Given the description of an element on the screen output the (x, y) to click on. 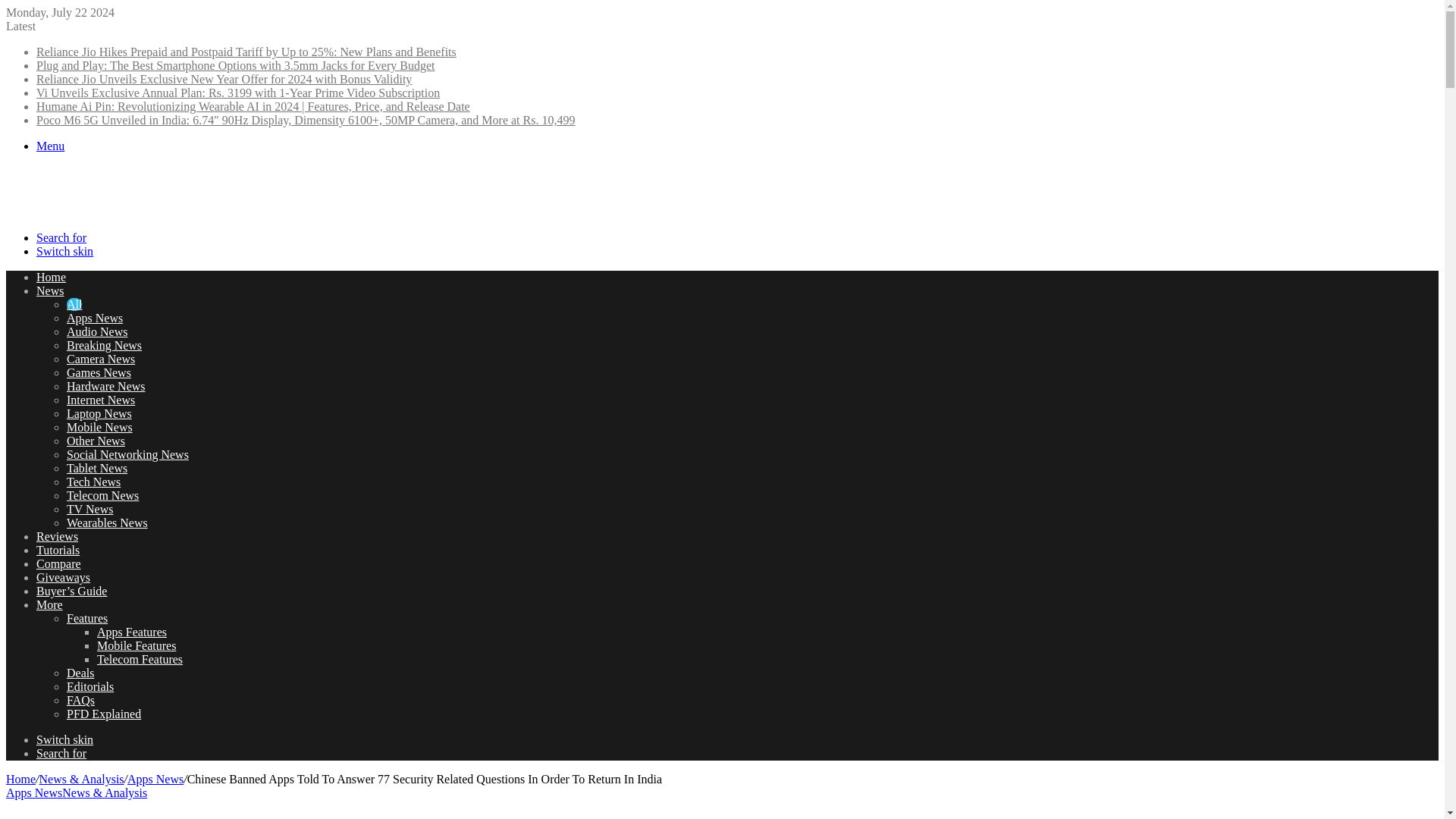
Deals (80, 672)
Reviews (57, 535)
Laptop News (99, 413)
Mobile Features (136, 645)
Apps News (94, 318)
Social Networking News (127, 454)
Compare (58, 563)
Tablet News (97, 468)
Telecom Features (140, 658)
Hardware News (105, 386)
Audio News (97, 331)
Tech News (93, 481)
Tutorials (58, 549)
TV News (89, 508)
